Given the description of an element on the screen output the (x, y) to click on. 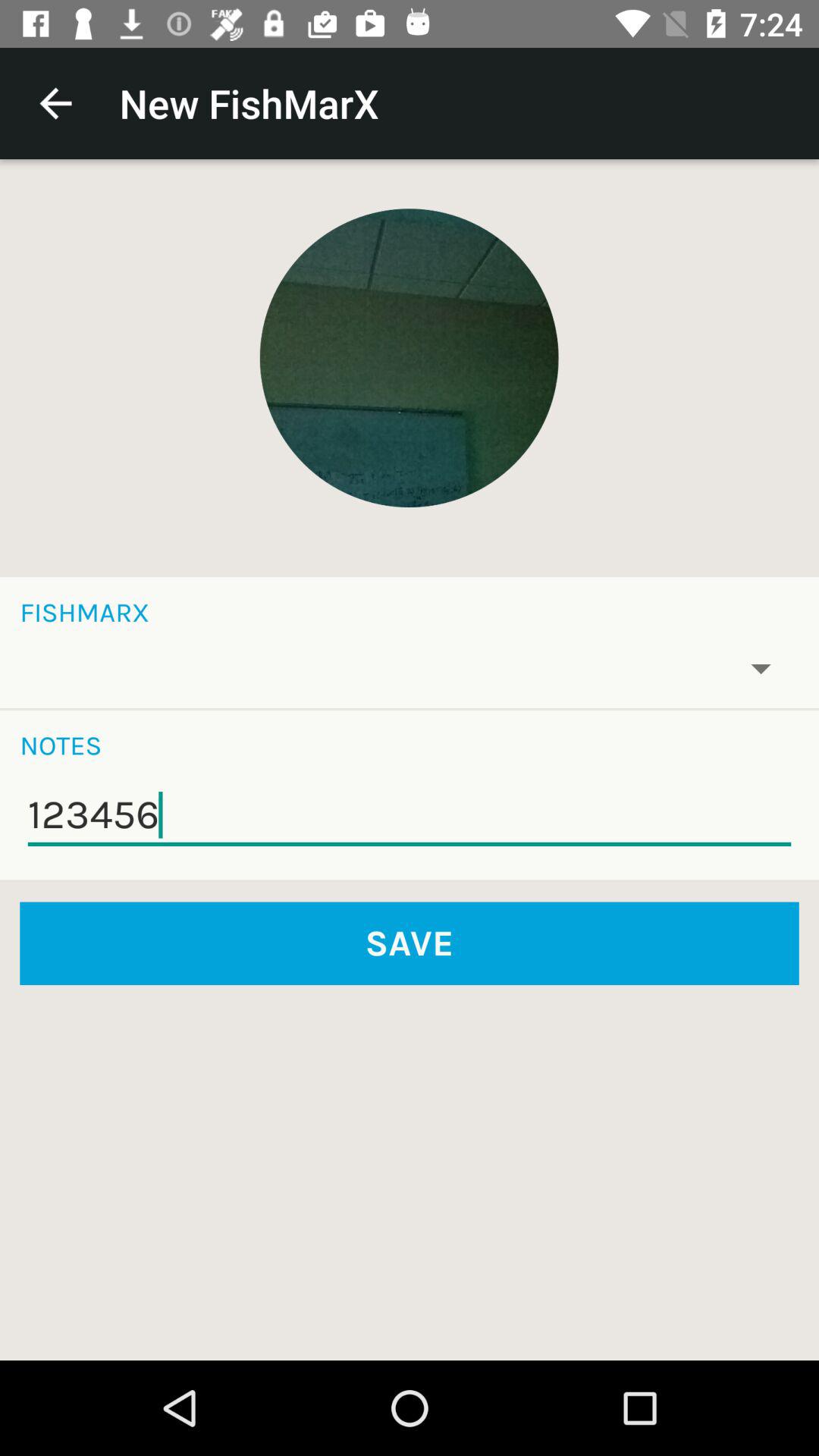
scroll to save icon (409, 943)
